Given the description of an element on the screen output the (x, y) to click on. 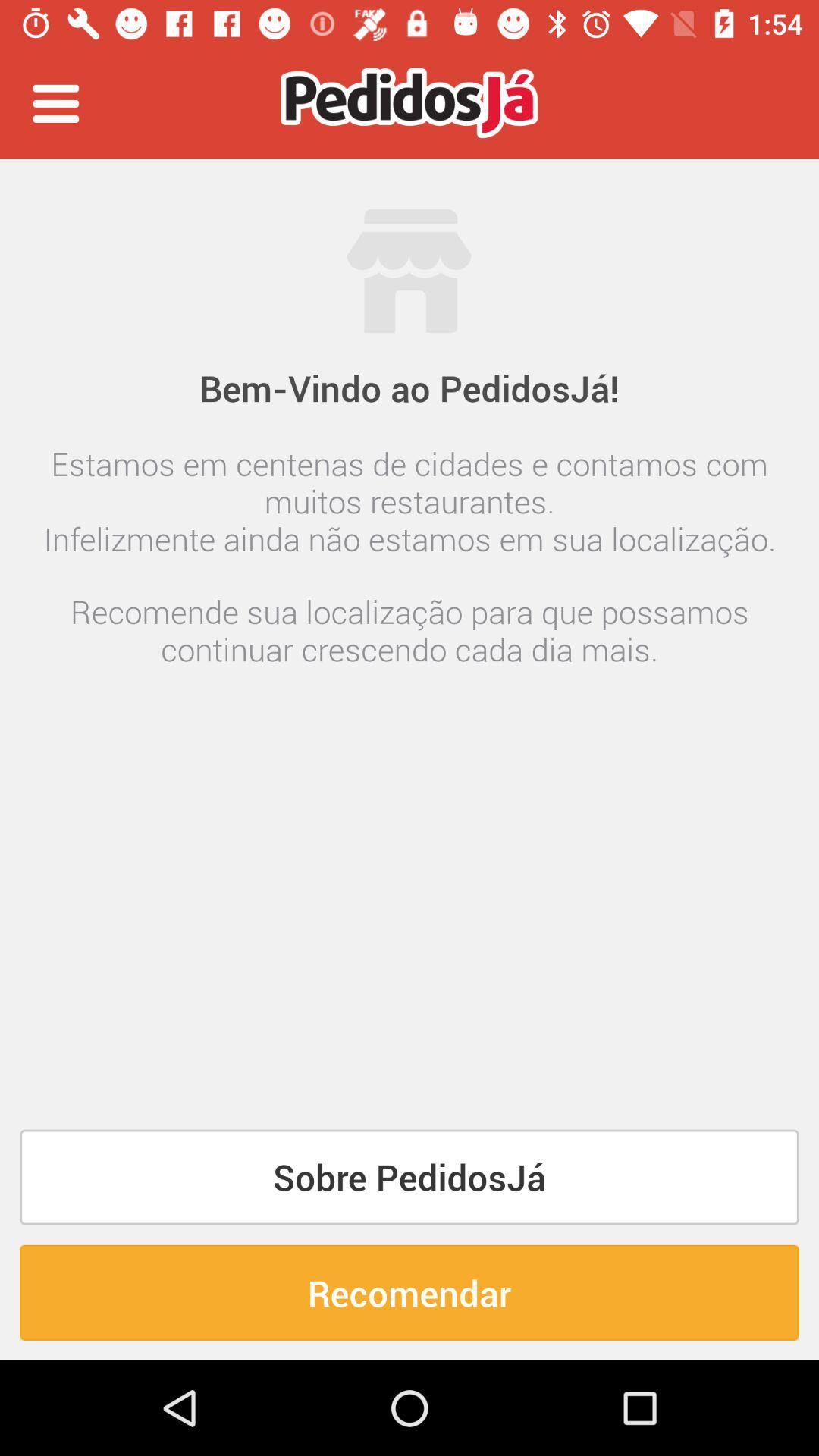
turn on icon above bem vindo ao (409, 200)
